Given the description of an element on the screen output the (x, y) to click on. 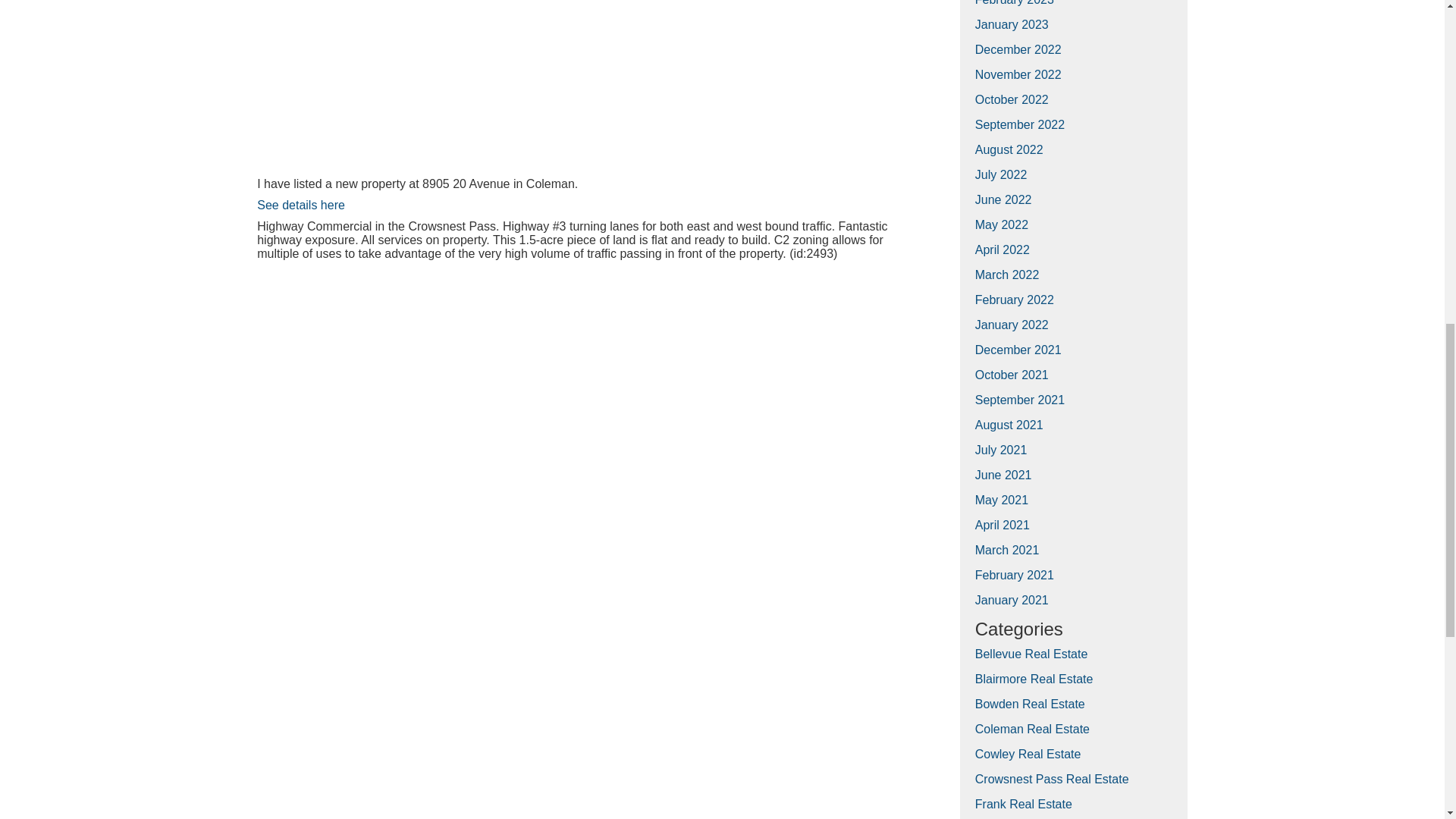
See details here (301, 205)
